Given the description of an element on the screen output the (x, y) to click on. 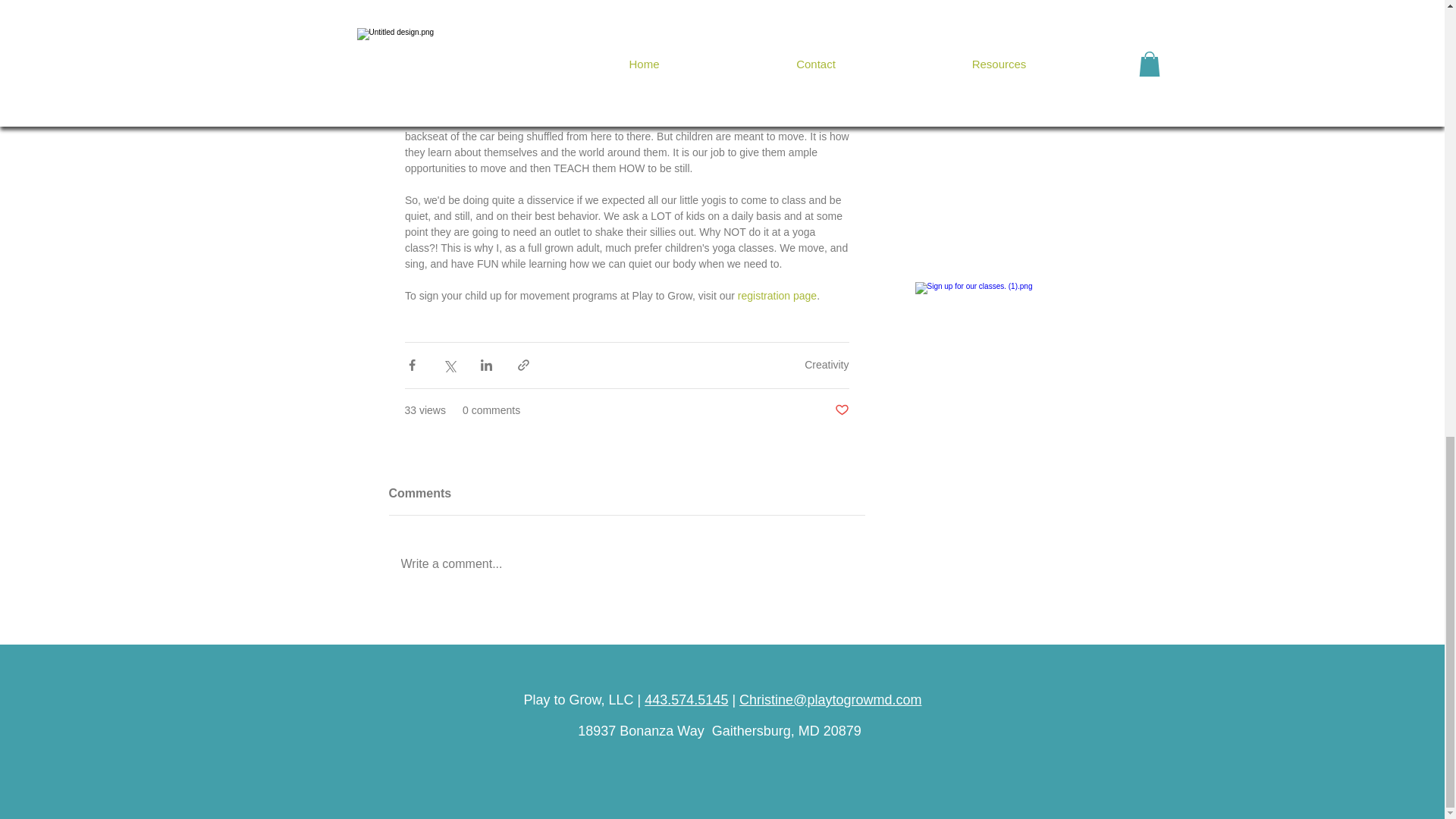
Post not marked as liked (841, 410)
Write a comment... (626, 563)
Creativity (826, 364)
registration page (775, 295)
443.574.5145 (686, 699)
